Given the description of an element on the screen output the (x, y) to click on. 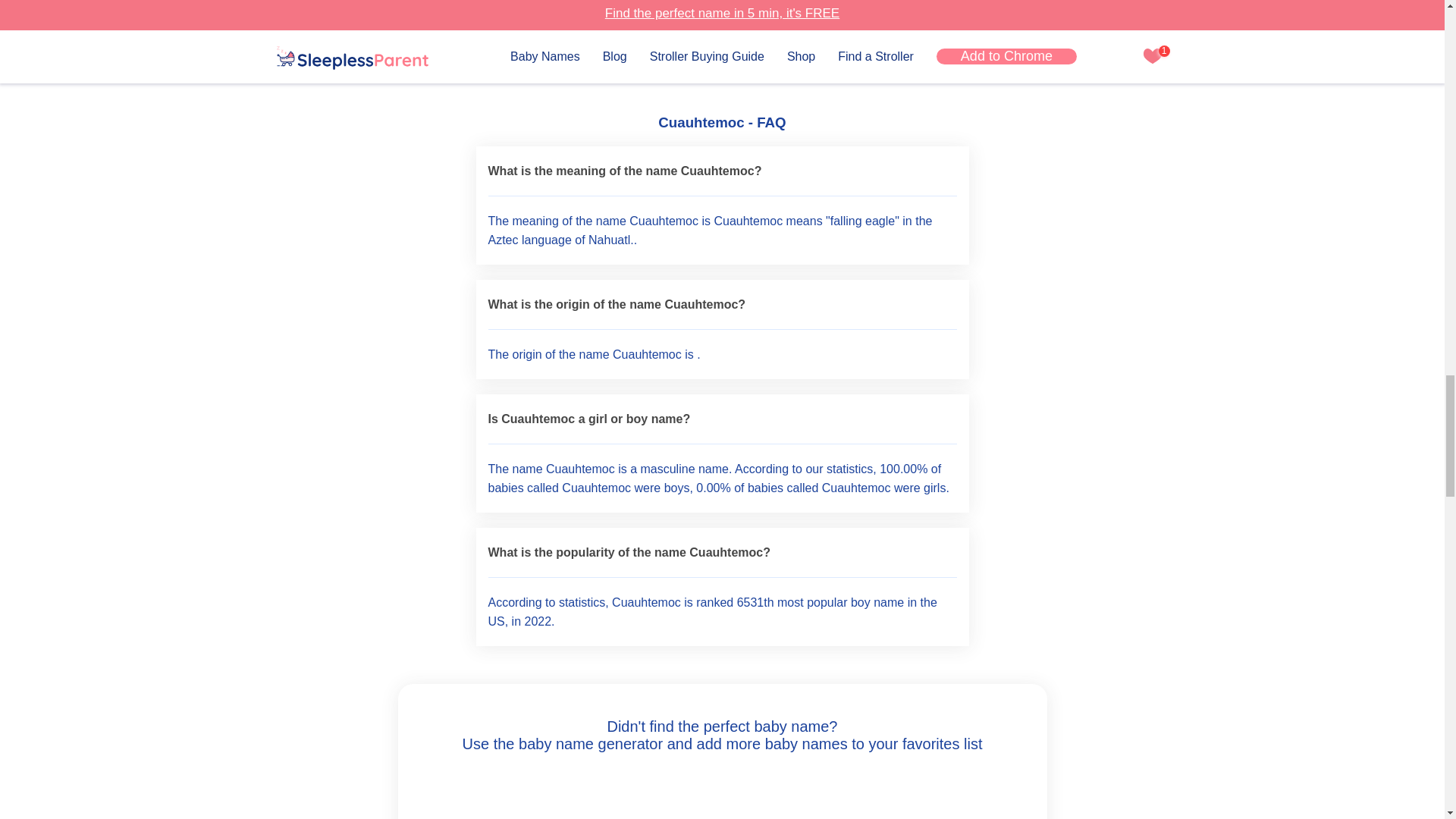
Advertisement (721, 38)
YouTube video player (721, 797)
